Given the description of an element on the screen output the (x, y) to click on. 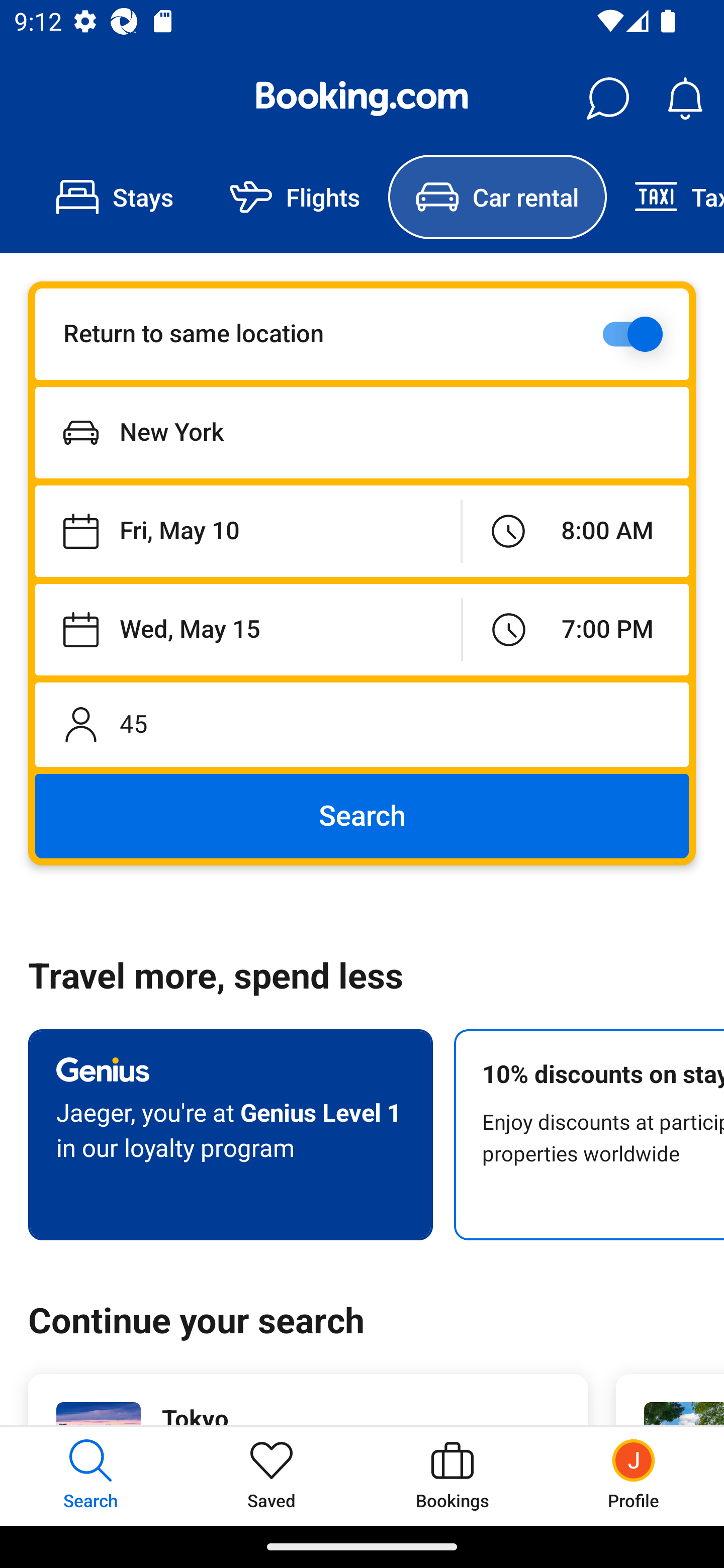
Messages (607, 98)
Notifications (685, 98)
Stays (114, 197)
Flights (294, 197)
Car rental (497, 197)
Taxi (665, 197)
Pick-up location: Text(name=New York) (361, 432)
Pick-up date: 2024-05-10 (247, 531)
Pick-up time: 08:00:00.000 (575, 531)
Drop-off date: 2024-05-15 (248, 629)
Drop-off time: 19:00:00.000 (575, 629)
Driver's age: 45 (361, 724)
Search (361, 815)
Saved (271, 1475)
Bookings (452, 1475)
Profile (633, 1475)
